Given the description of an element on the screen output the (x, y) to click on. 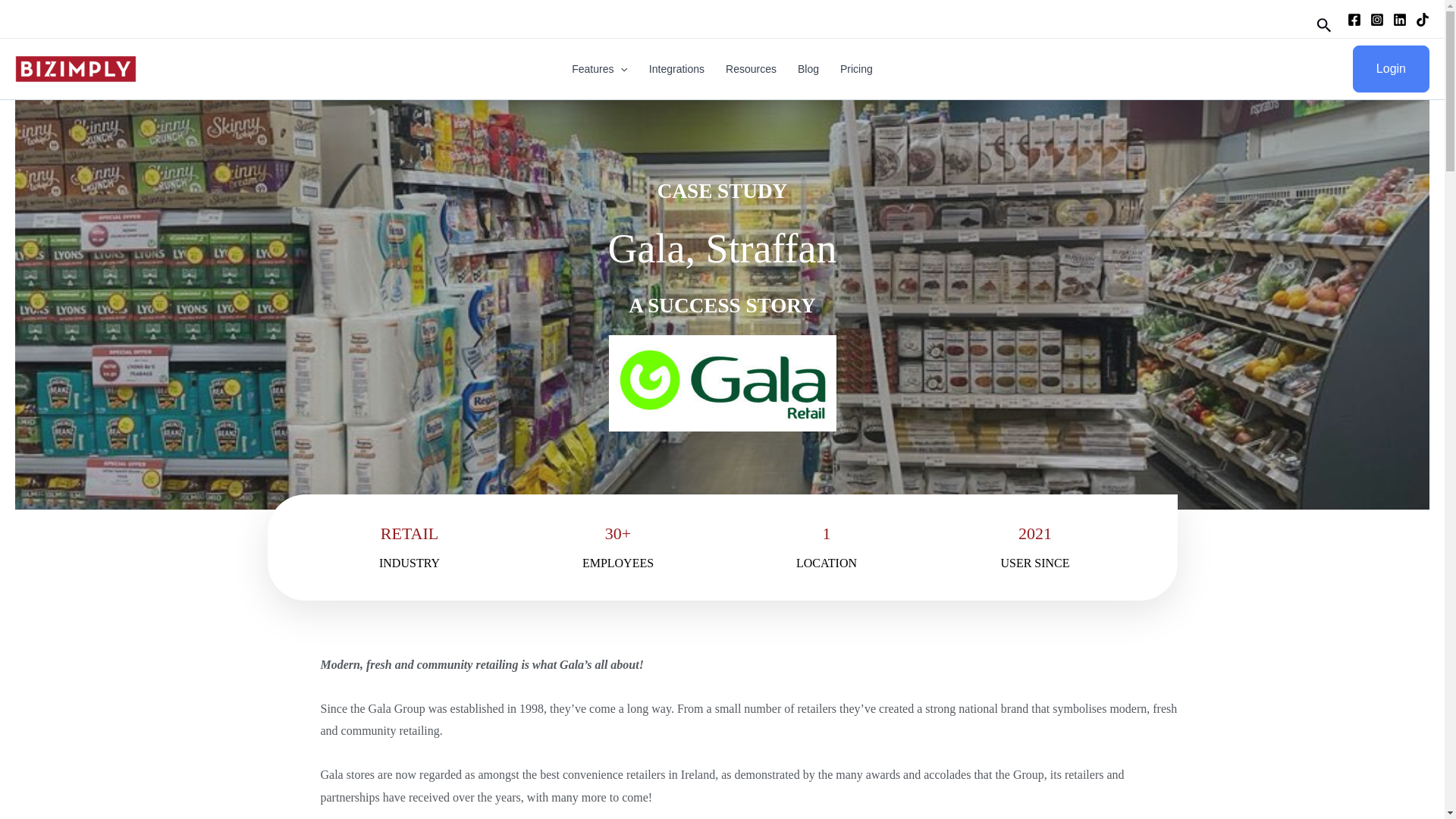
Resources (750, 68)
Features (599, 68)
Integrations (676, 68)
Login (1390, 68)
